Given the description of an element on the screen output the (x, y) to click on. 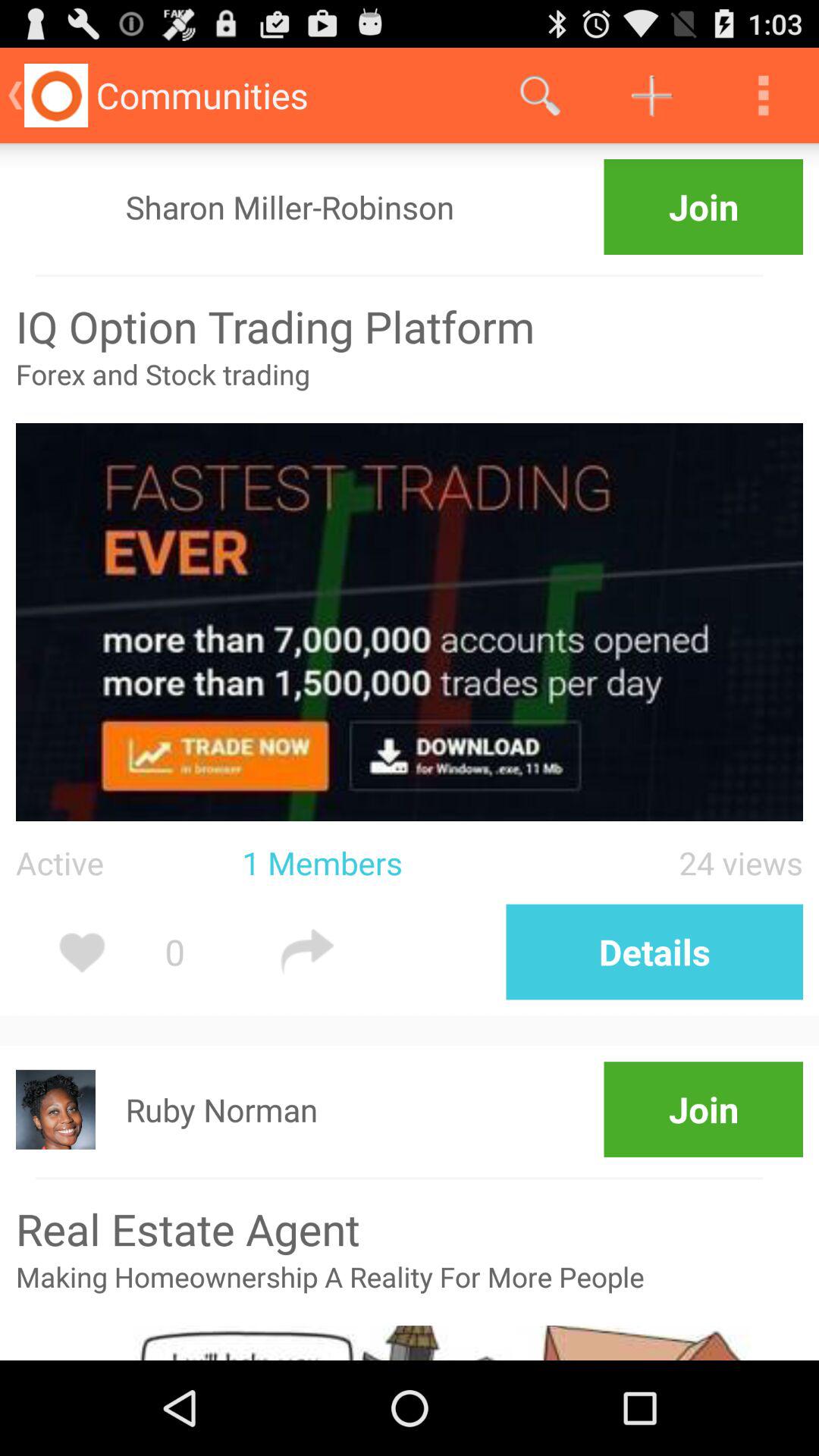
choose the iq option trading app (409, 325)
